Given the description of an element on the screen output the (x, y) to click on. 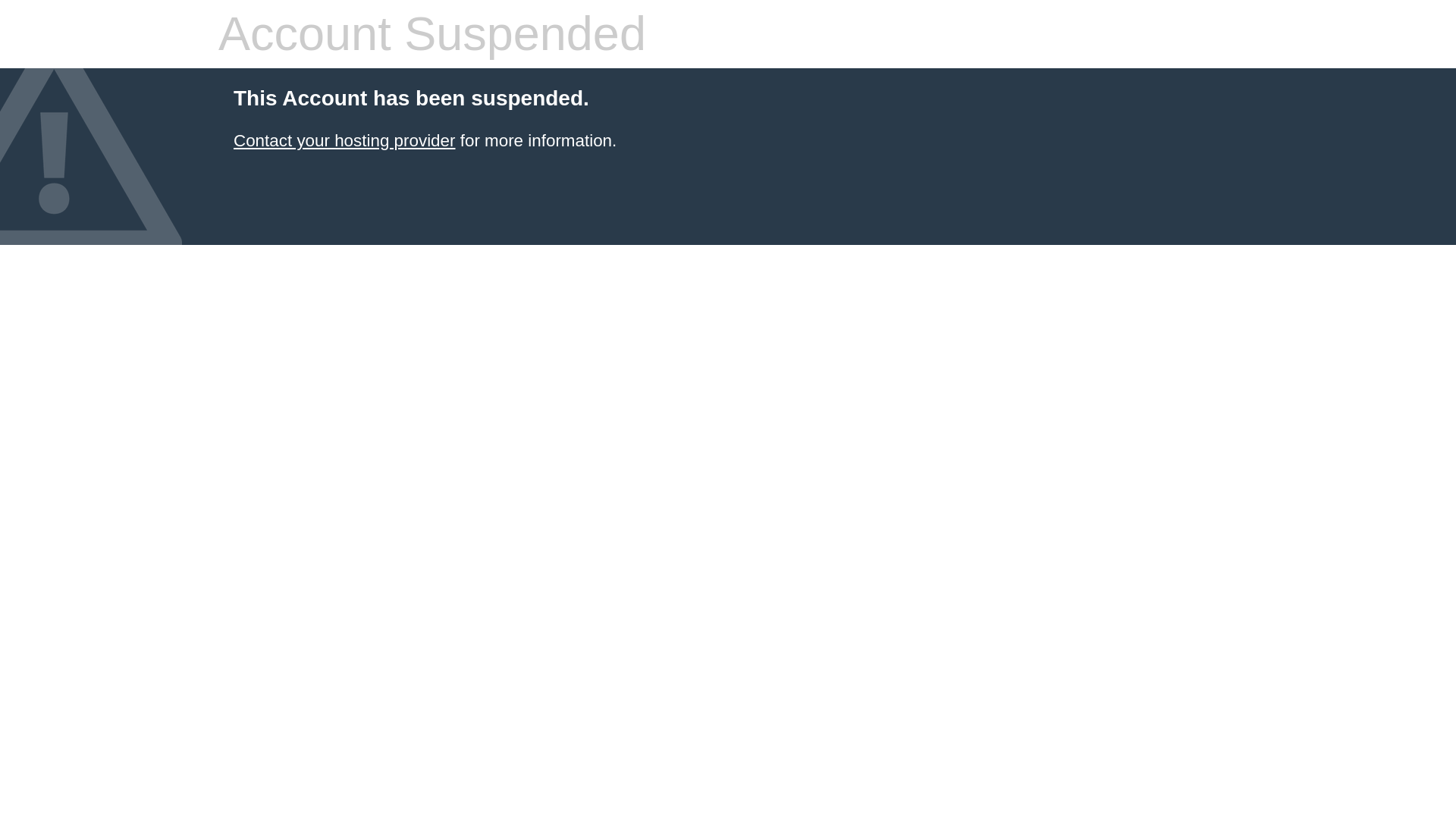
Contact your hosting provider (343, 140)
